Given the description of an element on the screen output the (x, y) to click on. 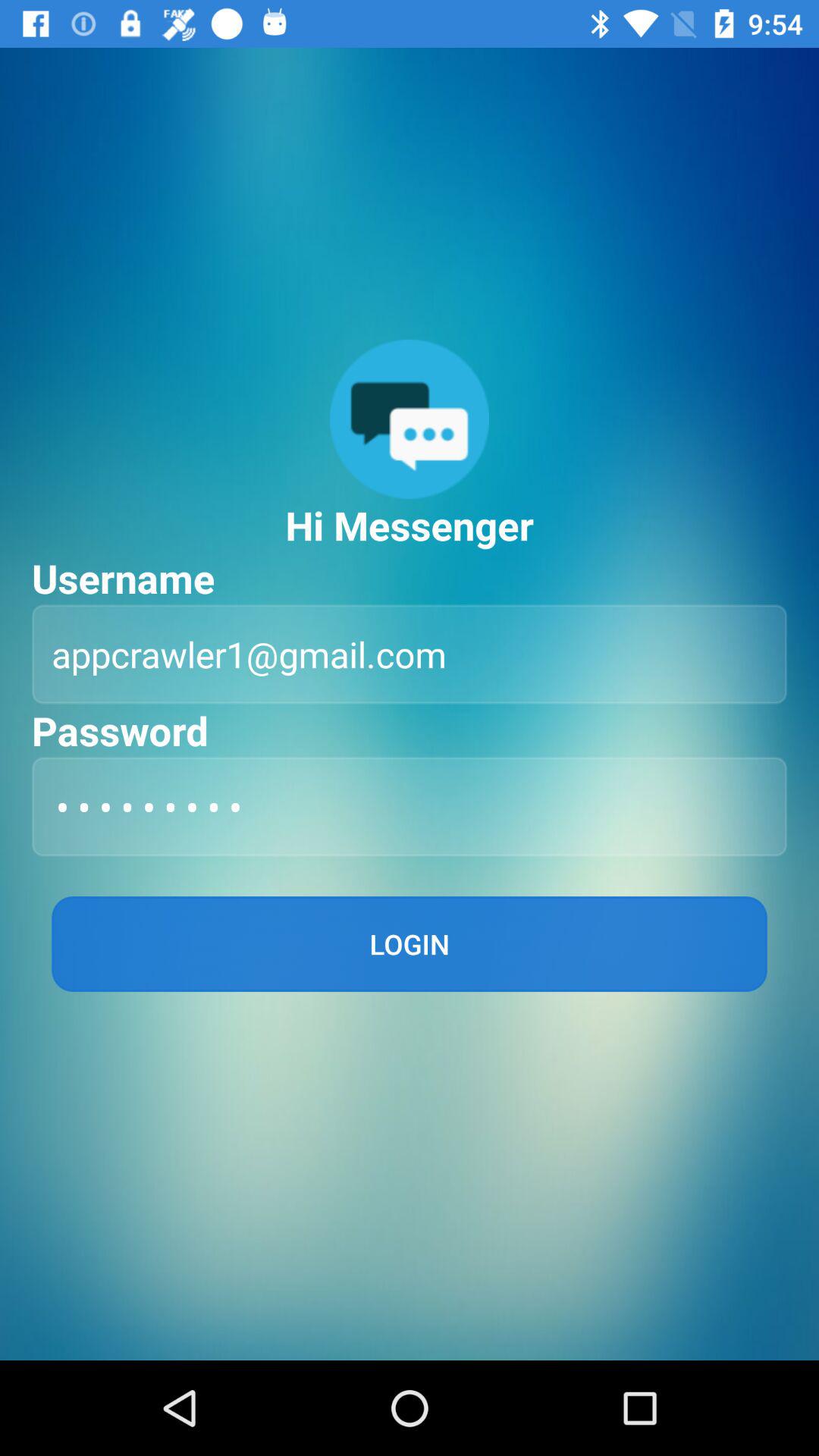
choose the icon above login (409, 806)
